Given the description of an element on the screen output the (x, y) to click on. 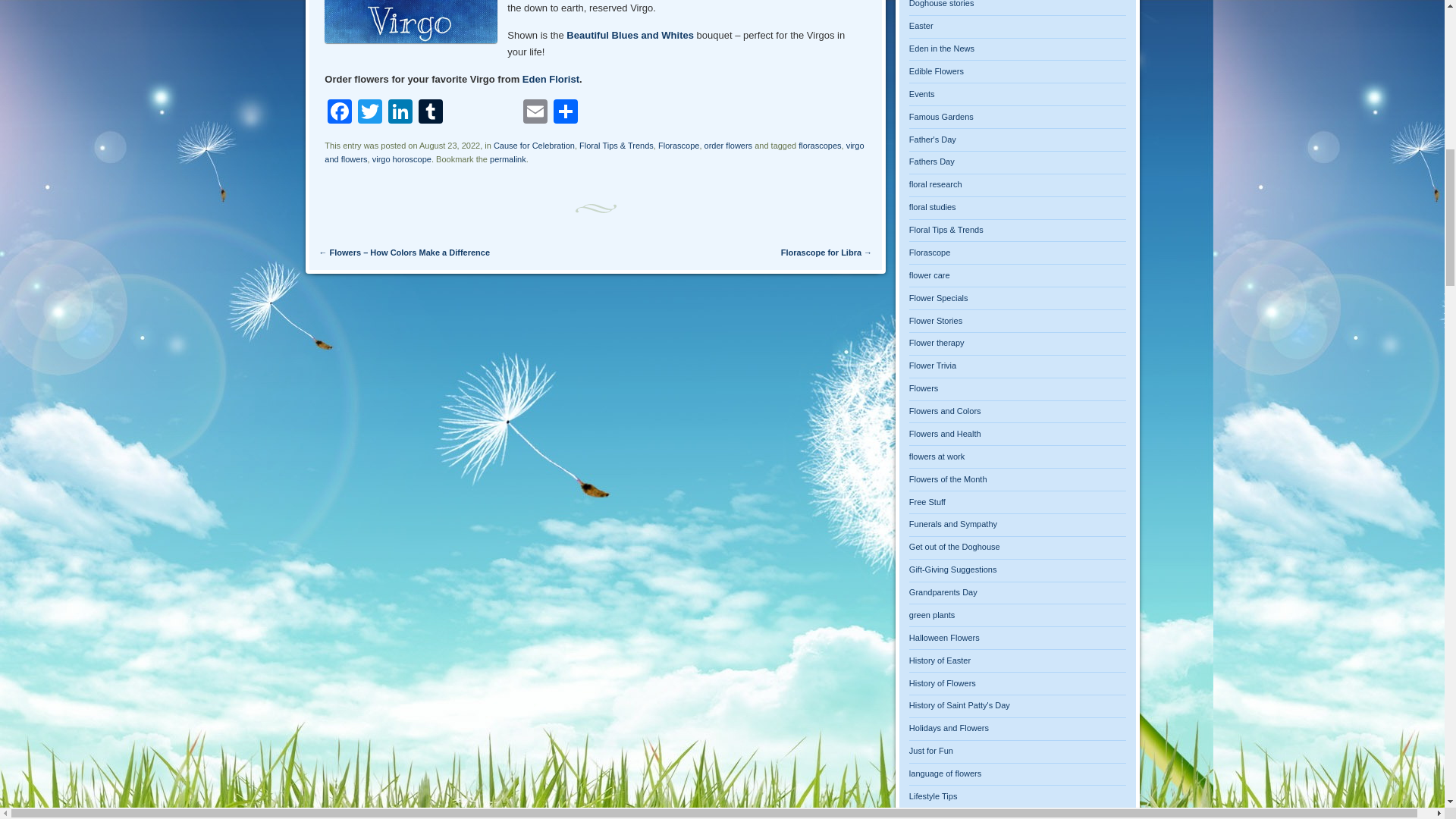
virgo horoscope (401, 158)
Beautiful Blues and Whites (630, 34)
Eden Florist (550, 79)
Facebook (339, 113)
Permalink to Florascope for Virgo (507, 158)
florascopes (819, 144)
Facebook (339, 113)
Twitter (370, 113)
Florascope (678, 144)
permalink (507, 158)
Tumblr (429, 113)
order flowers (728, 144)
virgo and flowers (593, 151)
LinkedIn (399, 113)
Share (565, 113)
